Given the description of an element on the screen output the (x, y) to click on. 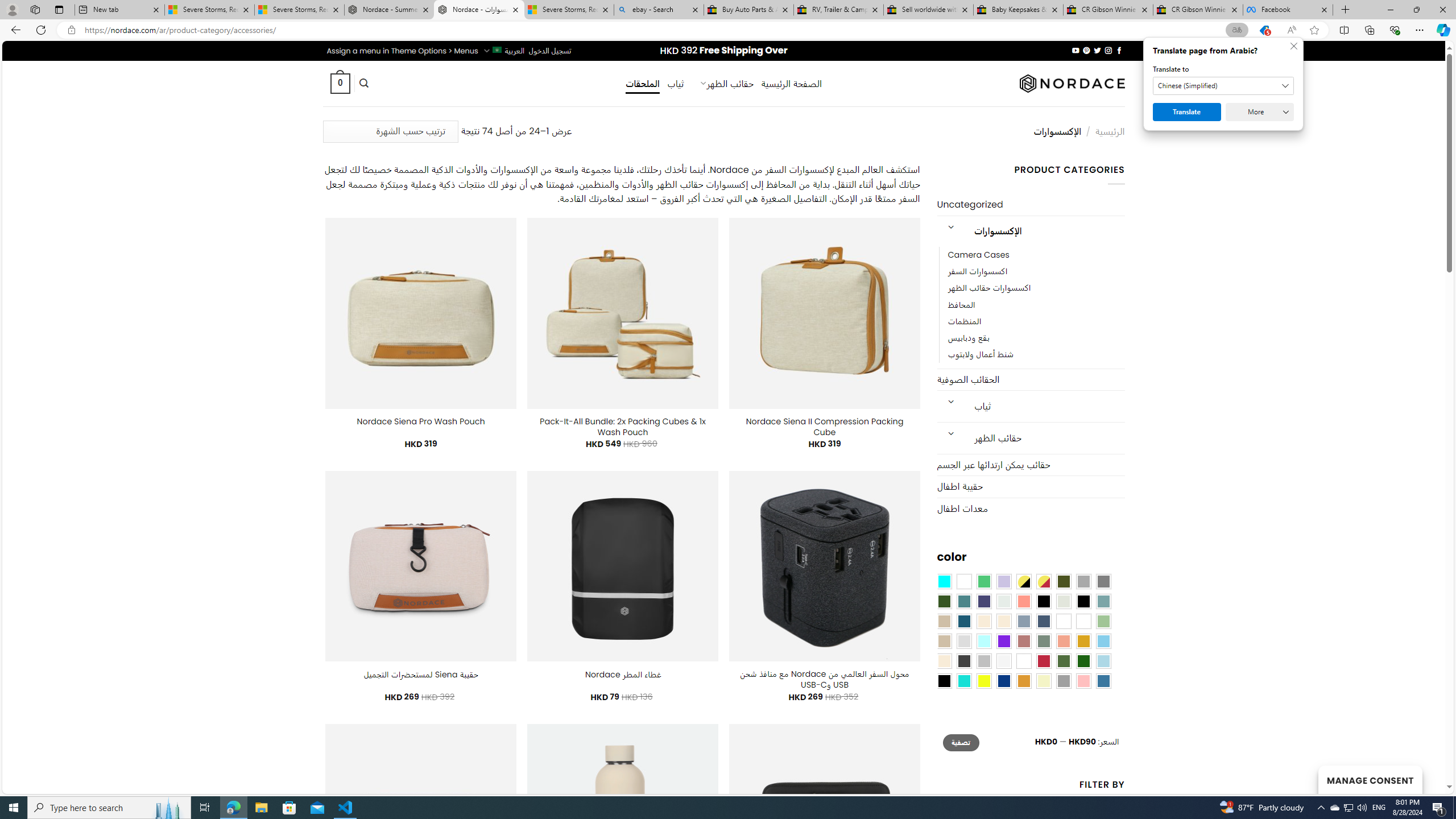
Facebook (1287, 9)
This site has coupons! Shopping in Microsoft Edge, 5 (1263, 29)
RV, Trailer & Camper Steps & Ladders for sale | eBay (838, 9)
Ash Gray (1063, 601)
Nordace Siena II Compression Packing Cube (824, 427)
Khaki (1082, 621)
Purple (1003, 640)
